Given the description of an element on the screen output the (x, y) to click on. 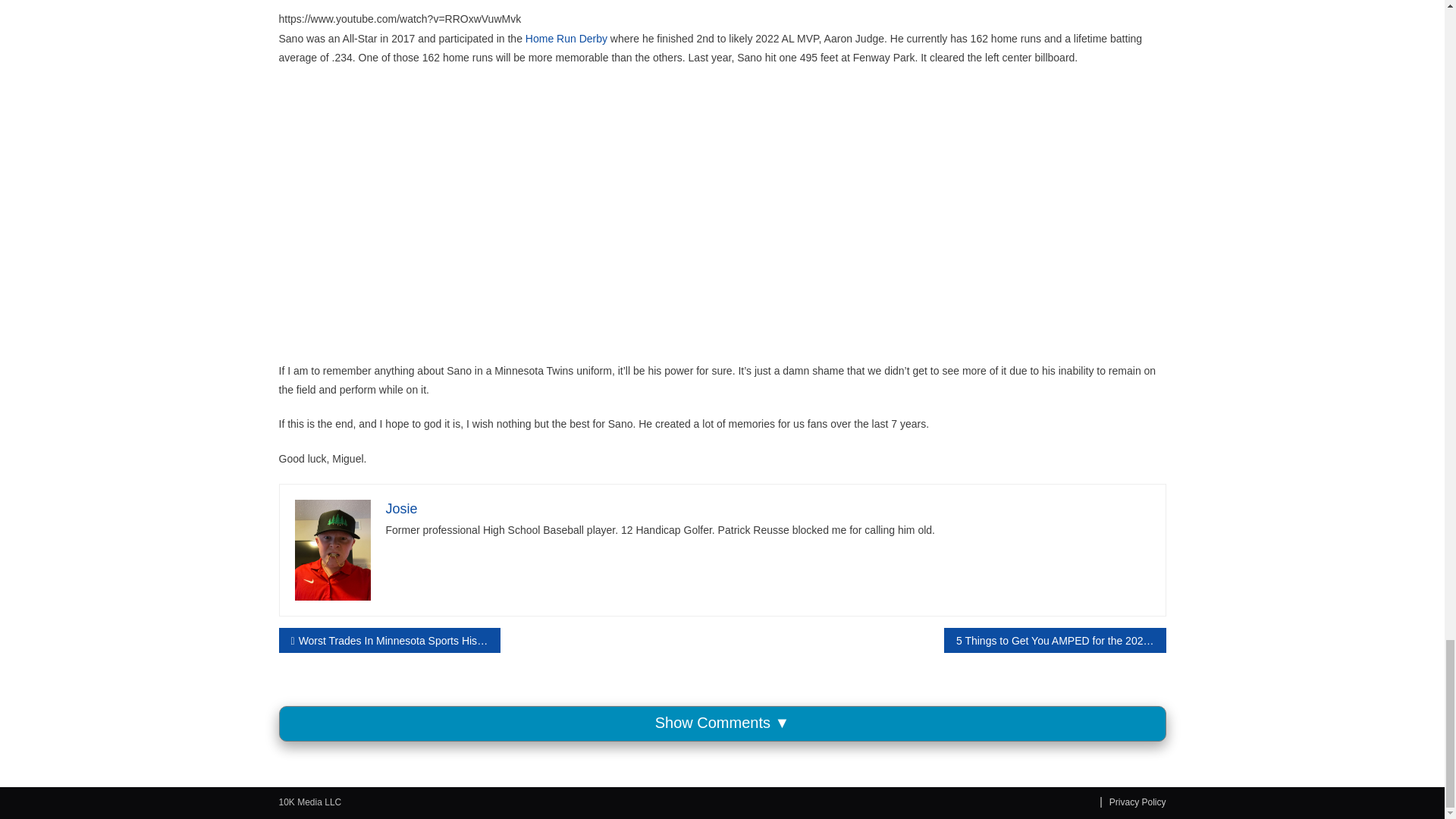
Home Run Derby (566, 38)
Josie (400, 508)
